Given the description of an element on the screen output the (x, y) to click on. 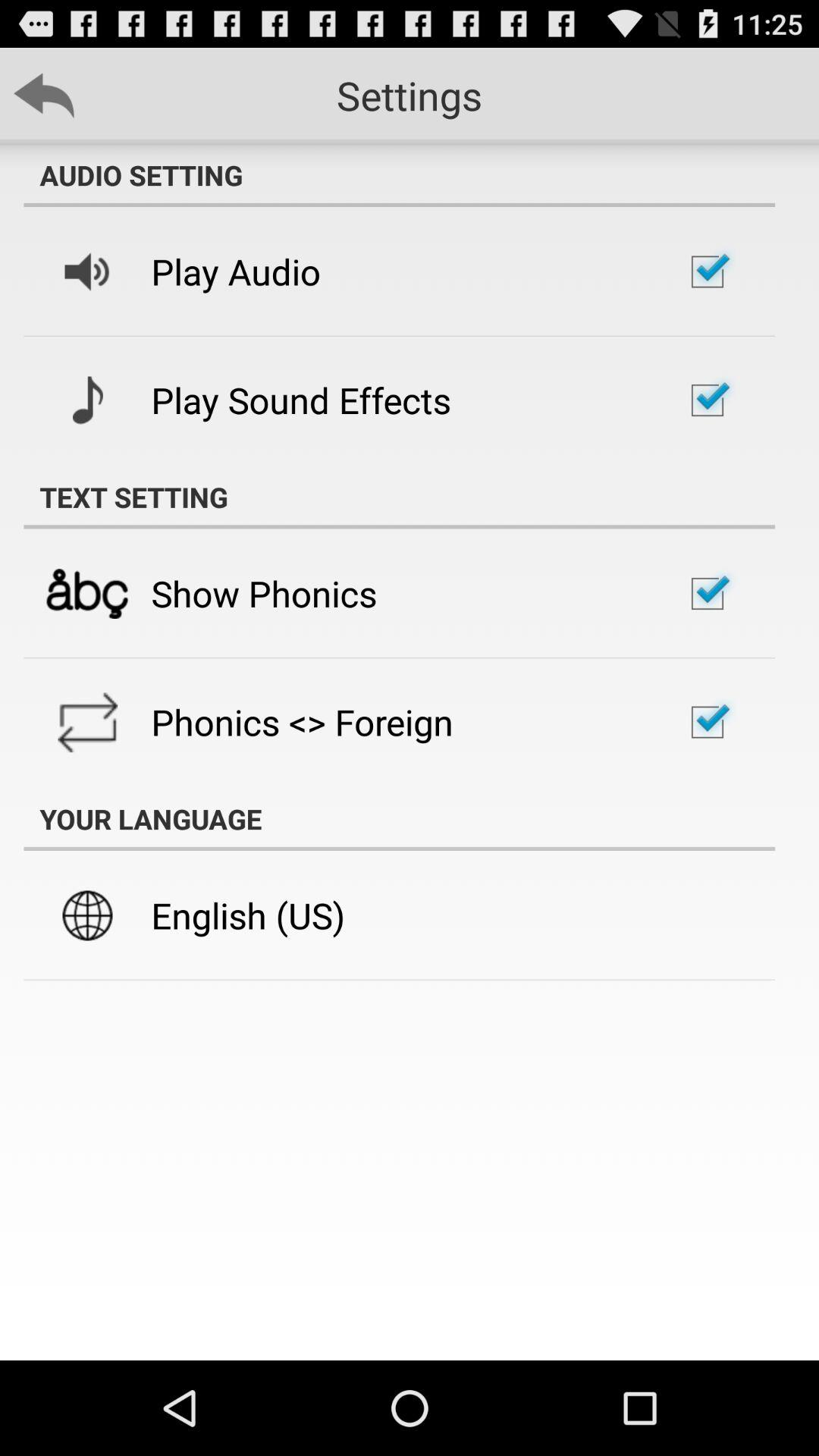
choose item below the your language item (248, 915)
